Given the description of an element on the screen output the (x, y) to click on. 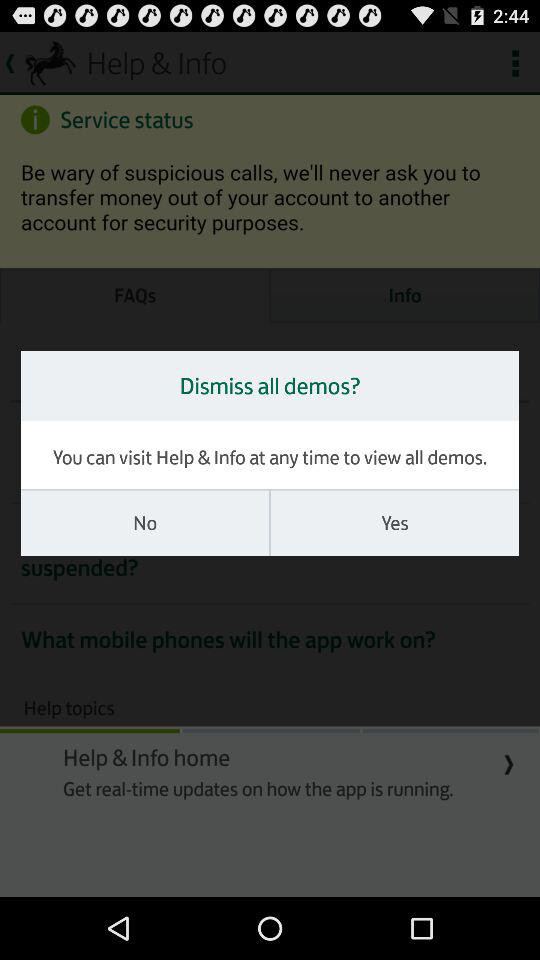
tap yes on the right (394, 523)
